Given the description of an element on the screen output the (x, y) to click on. 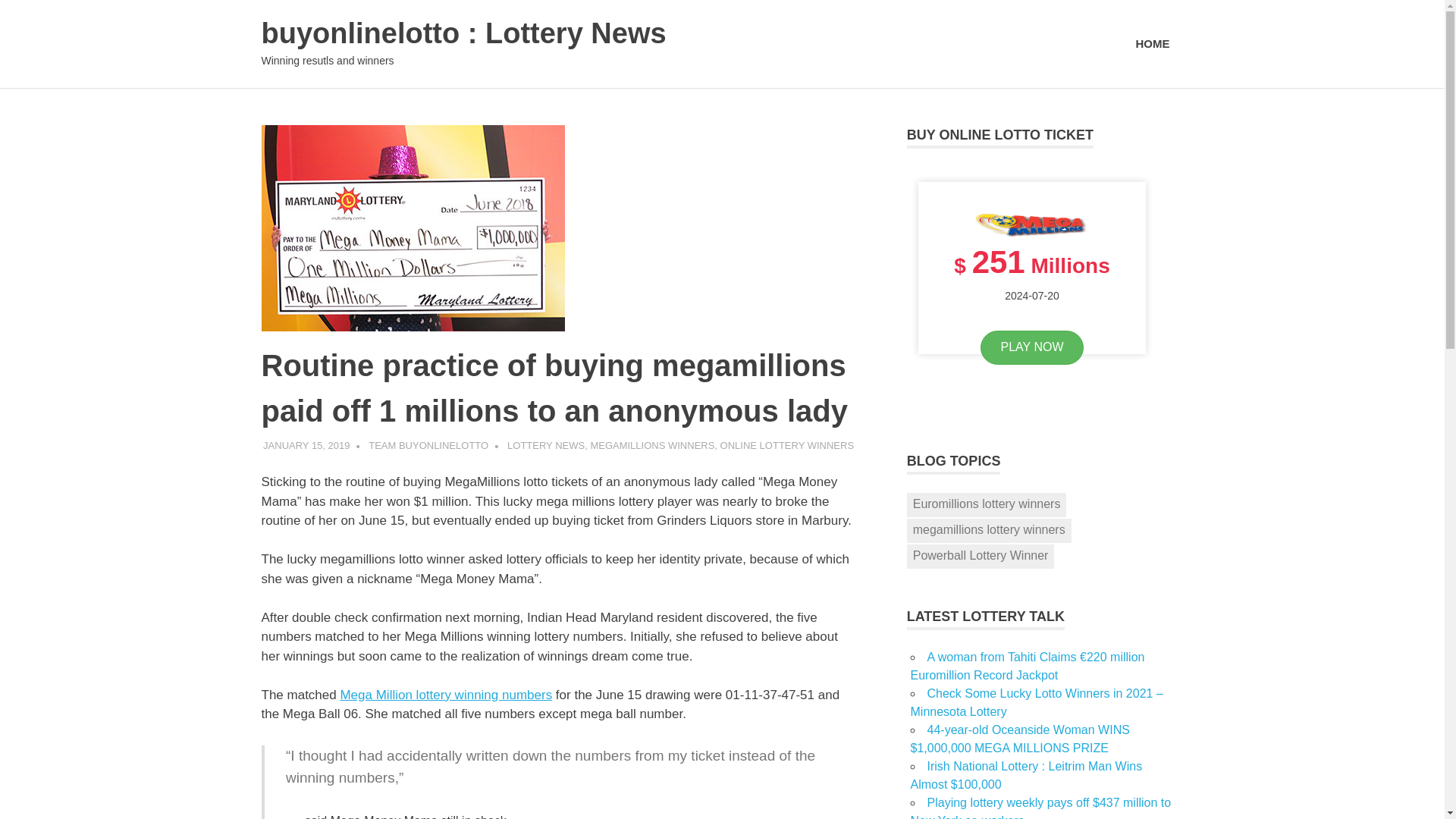
Powerball Lottery Winner (980, 556)
Mega Million lottery winning numbers (445, 694)
TEAM BUYONLINELOTTO (427, 445)
Euromillions lottery winners (987, 504)
ONLINE LOTTERY WINNERS (787, 445)
HOME (1152, 44)
View all posts by Team Buyonlinelotto (427, 445)
megamillions lottery winners (989, 530)
JANUARY 15, 2019 (306, 445)
MEGAMILLIONS WINNERS (651, 445)
LOTTERY NEWS (545, 445)
4:24 am (306, 445)
buyonlinelotto : Lottery News (462, 33)
